Given the description of an element on the screen output the (x, y) to click on. 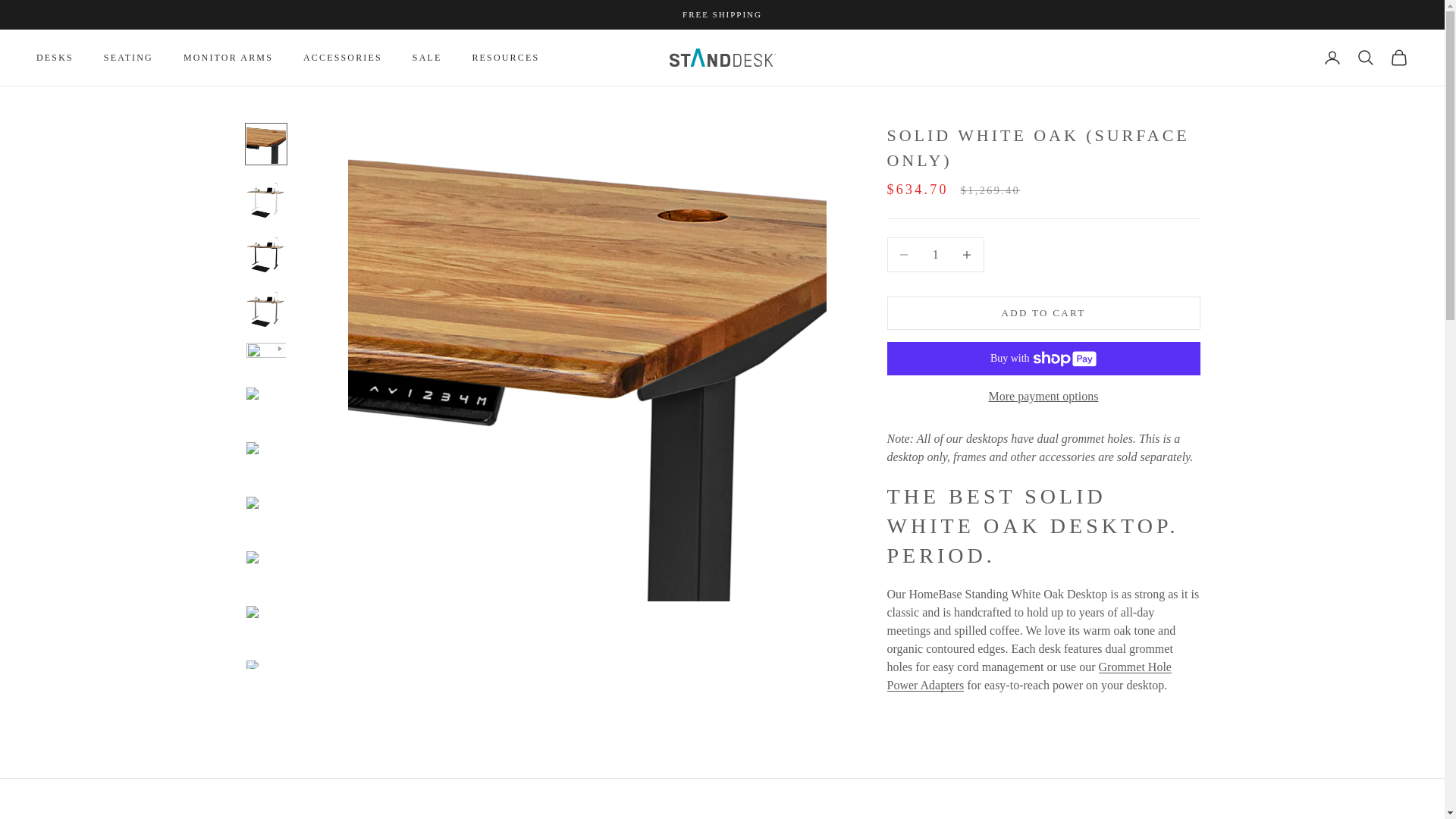
Open cart (1398, 57)
1 (935, 254)
Open search (1365, 57)
Grommet Hole Power Adapters (1029, 675)
StandDesk (721, 57)
SEATING (127, 57)
Open account page (1331, 57)
